Given the description of an element on the screen output the (x, y) to click on. 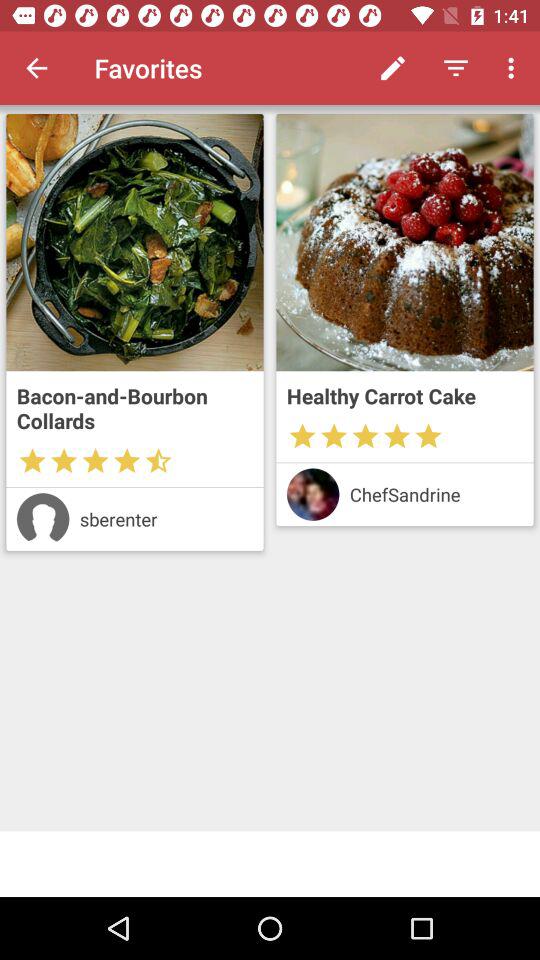
launch the bacon and bourbon item (134, 408)
